Given the description of an element on the screen output the (x, y) to click on. 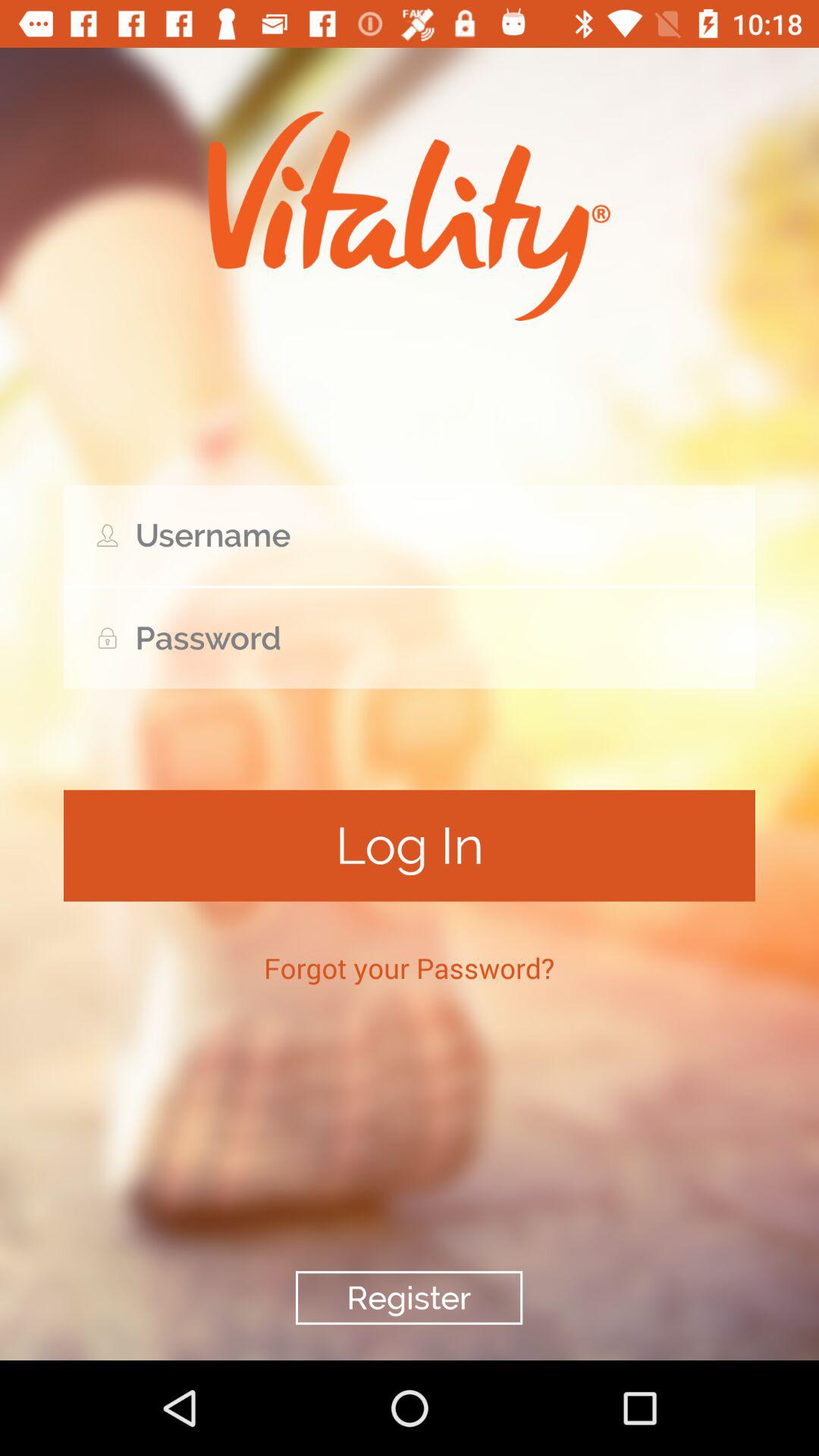
open field for password (409, 638)
